Given the description of an element on the screen output the (x, y) to click on. 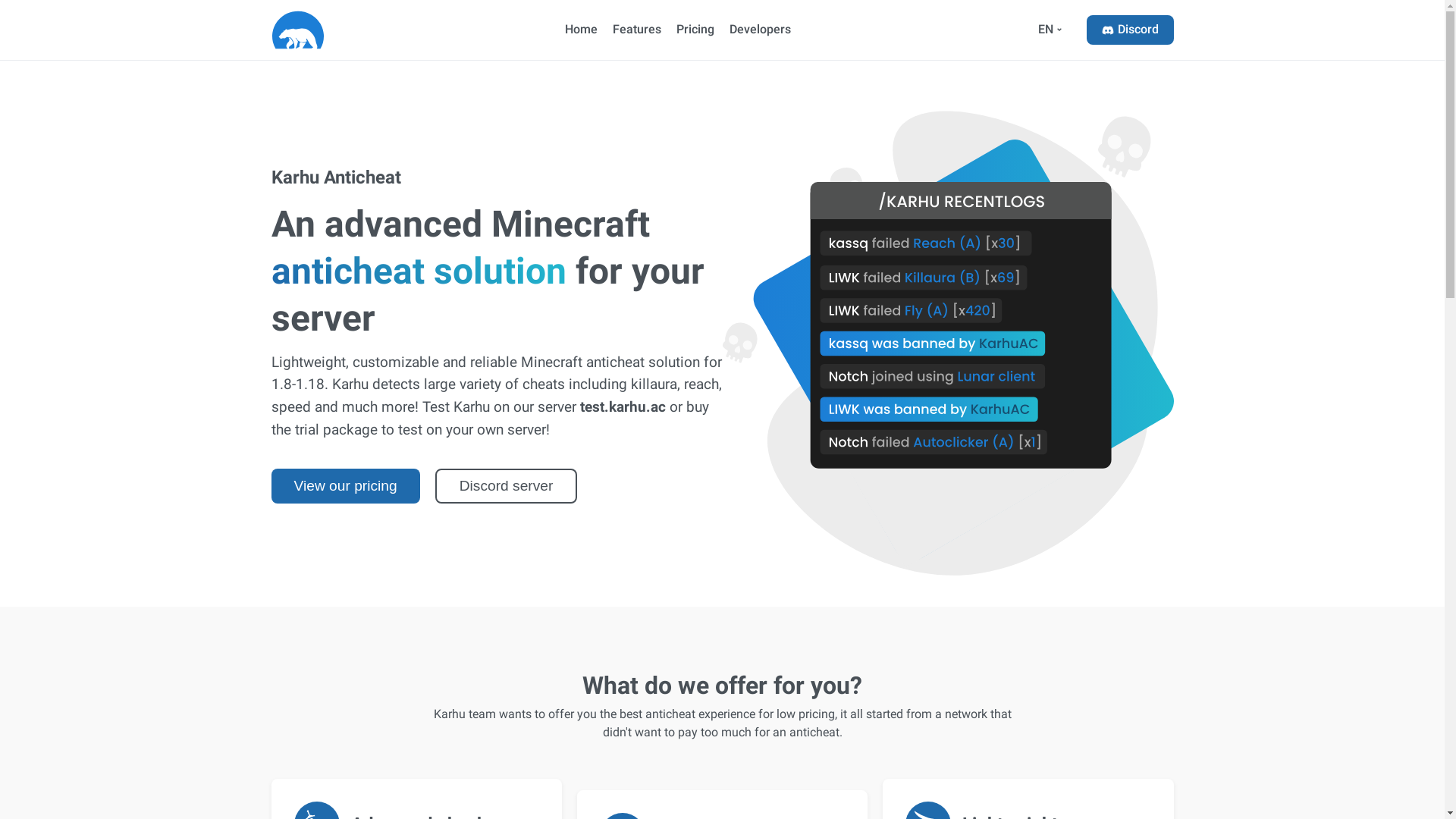
Discord server Element type: text (506, 485)
Home Element type: text (580, 29)
Discord Element type: text (1129, 30)
Developers Element type: text (759, 29)
View our pricing Element type: text (345, 485)
Pricing Element type: text (695, 29)
Features Element type: text (636, 29)
